Given the description of an element on the screen output the (x, y) to click on. 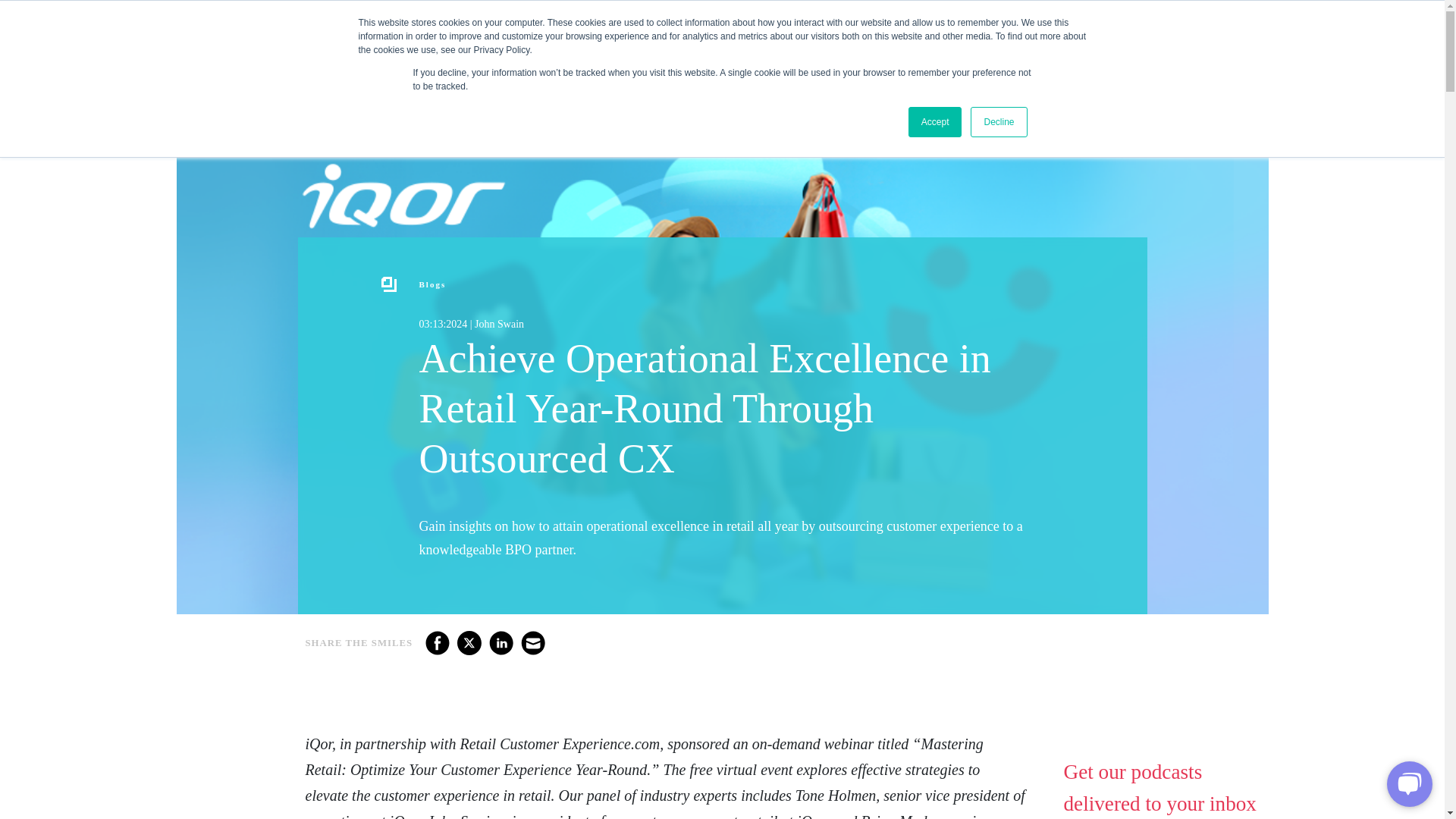
Accept (935, 122)
Decline (998, 122)
